Given the description of an element on the screen output the (x, y) to click on. 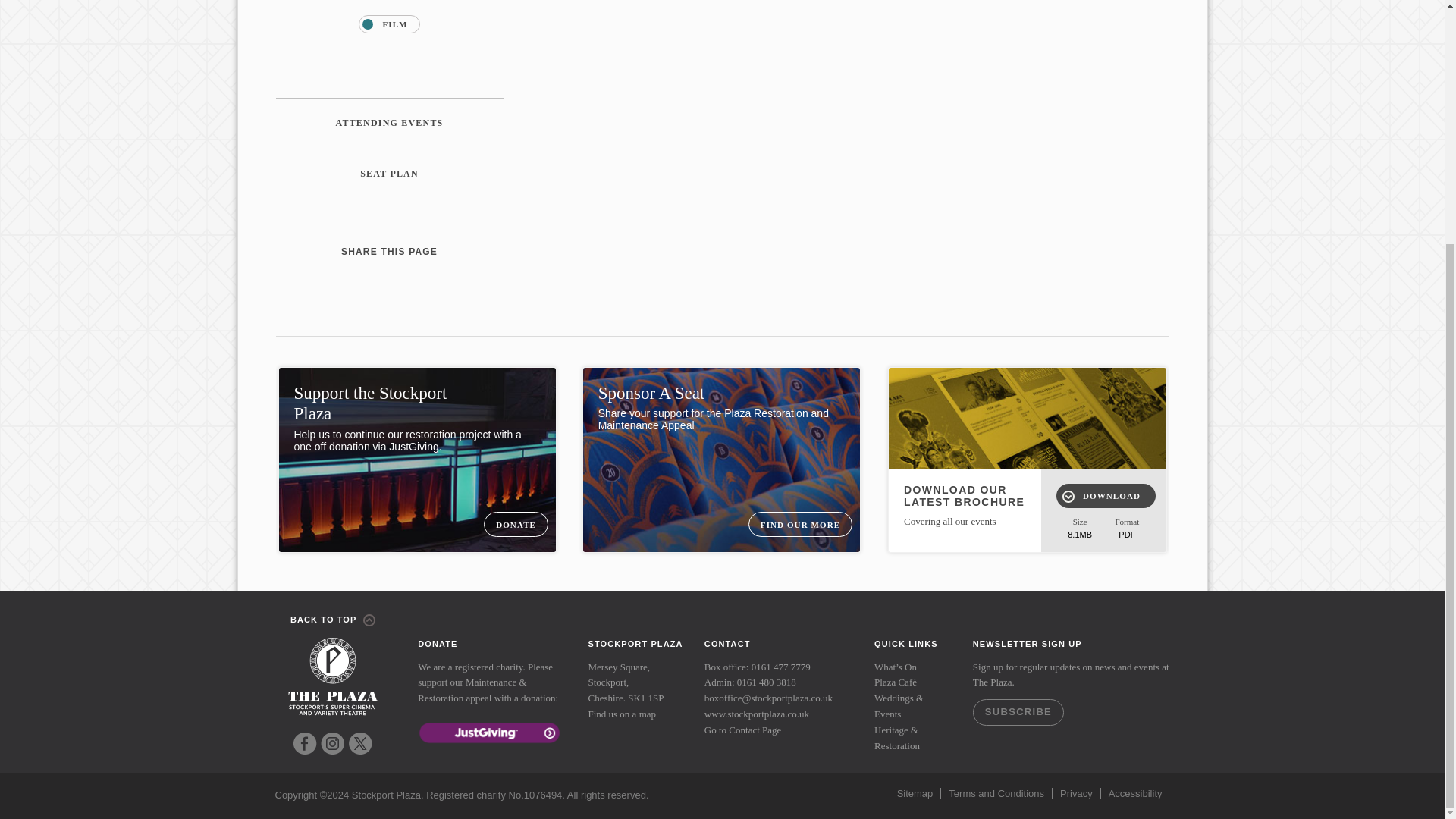
SEAT PLAN (389, 174)
ATTENDING EVENTS (389, 123)
DONATE (515, 524)
FIND OUR MORE (799, 524)
FILM (388, 24)
